Given the description of an element on the screen output the (x, y) to click on. 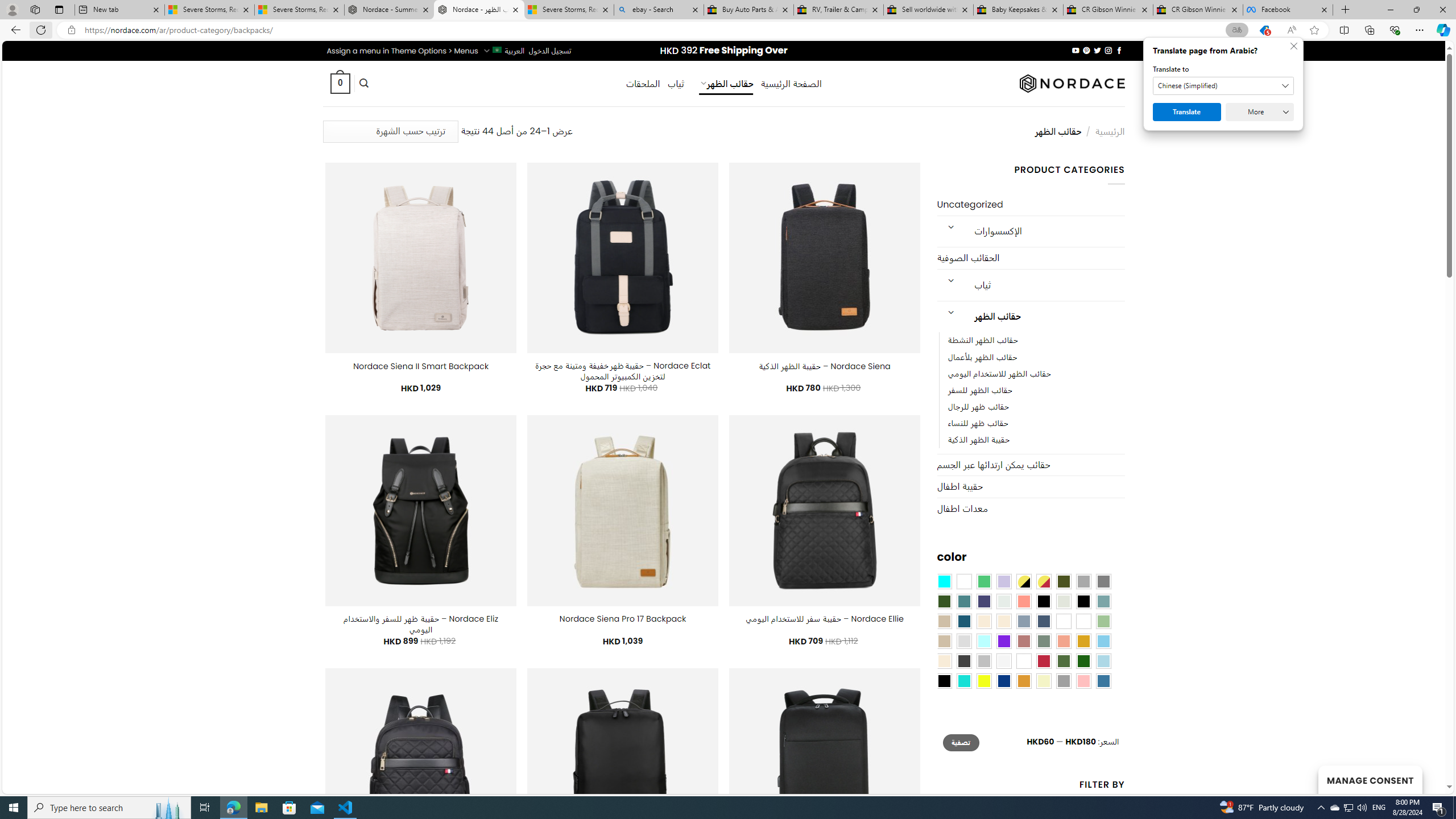
Nordace Siena Pro 17 Backpack (622, 618)
Blue Sage (1103, 601)
Dull Nickle (1003, 601)
  0   (340, 83)
